Given the description of an element on the screen output the (x, y) to click on. 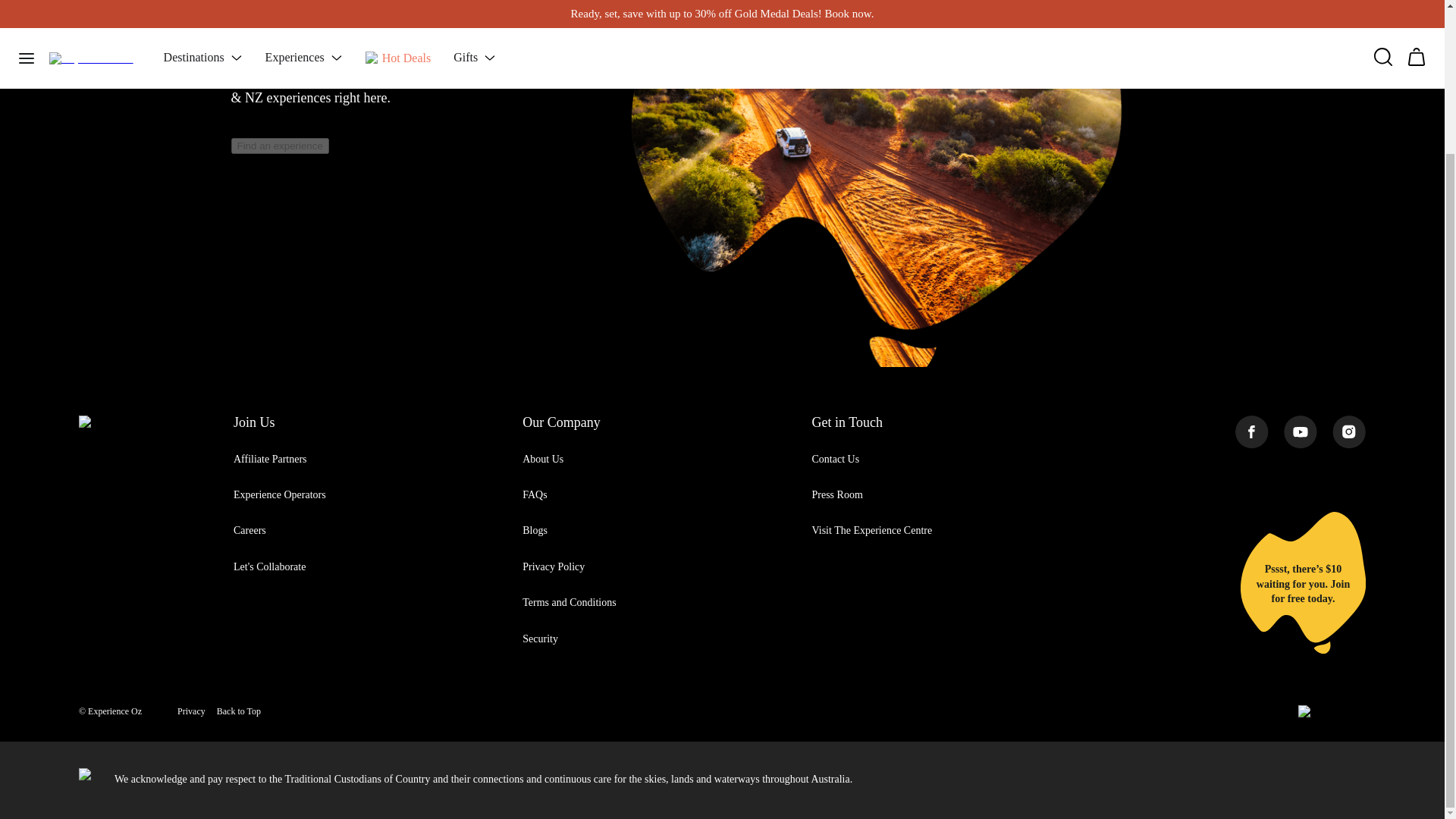
Privacy (191, 710)
Terms and Conditions (568, 602)
Let's Collaborate (268, 566)
Experience Operators (279, 494)
Affiliate Partners (269, 459)
Careers (249, 530)
Press Room (835, 494)
Blogs (534, 530)
Privacy Policy (553, 566)
Find an experience (279, 145)
